Given the description of an element on the screen output the (x, y) to click on. 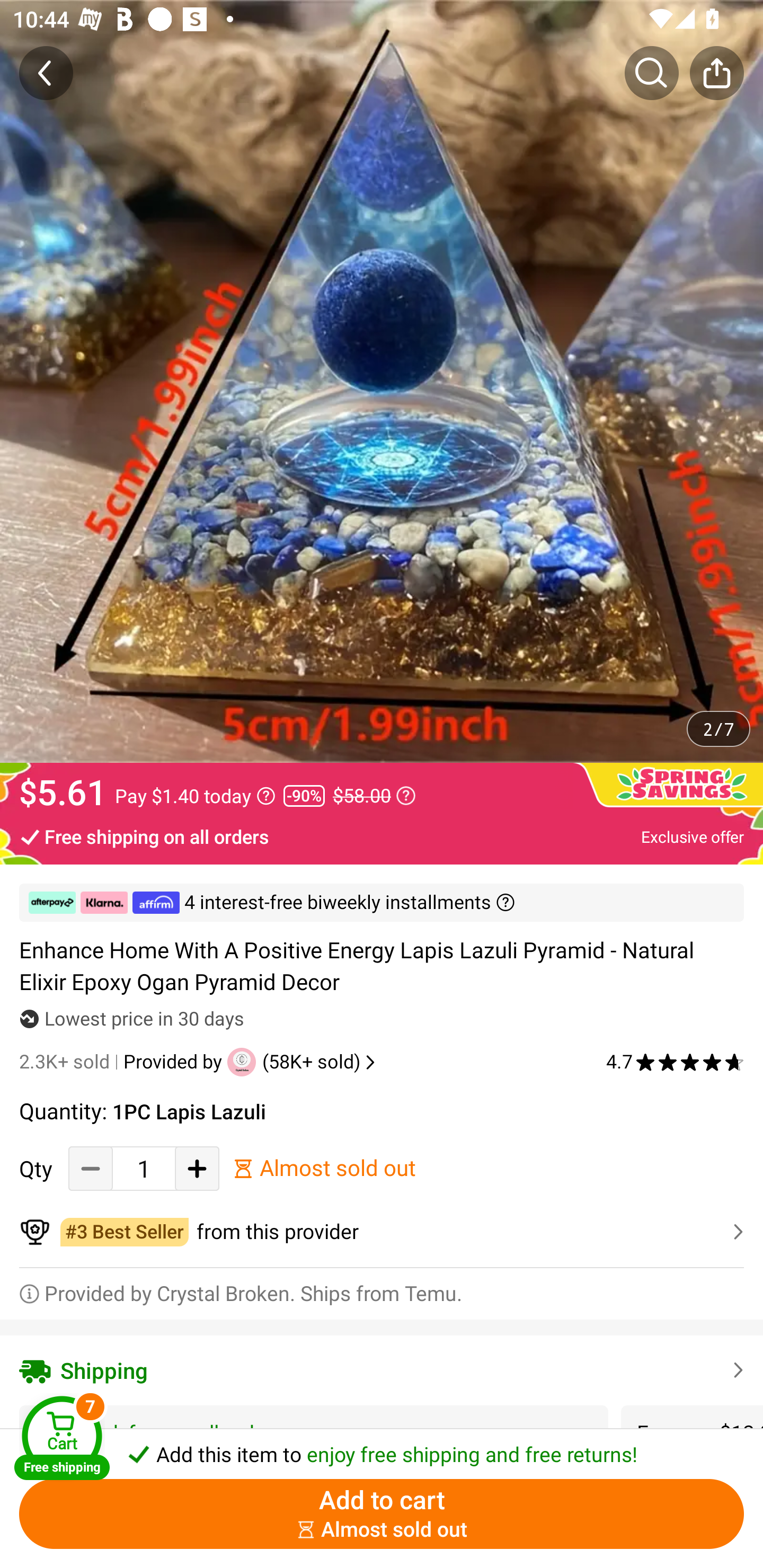
Back (46, 72)
Share (716, 72)
Pay $1.40 today   (195, 795)
Free shipping on all orders Exclusive offer (381, 836)
￼ ￼ ￼ 4 interest-free biweekly installments ￼ (381, 902)
2.3K+ sold Provided by  (123, 1061)
4.7 (674, 1061)
Decrease Quantity Button (90, 1168)
1 (143, 1168)
Add Quantity button (196, 1168)
￼￼from this provider (381, 1231)
Shipping (381, 1369)
Cart Free shipping Cart (61, 1437)
Add to cart ￼￼Almost sold out (381, 1513)
